Given the description of an element on the screen output the (x, y) to click on. 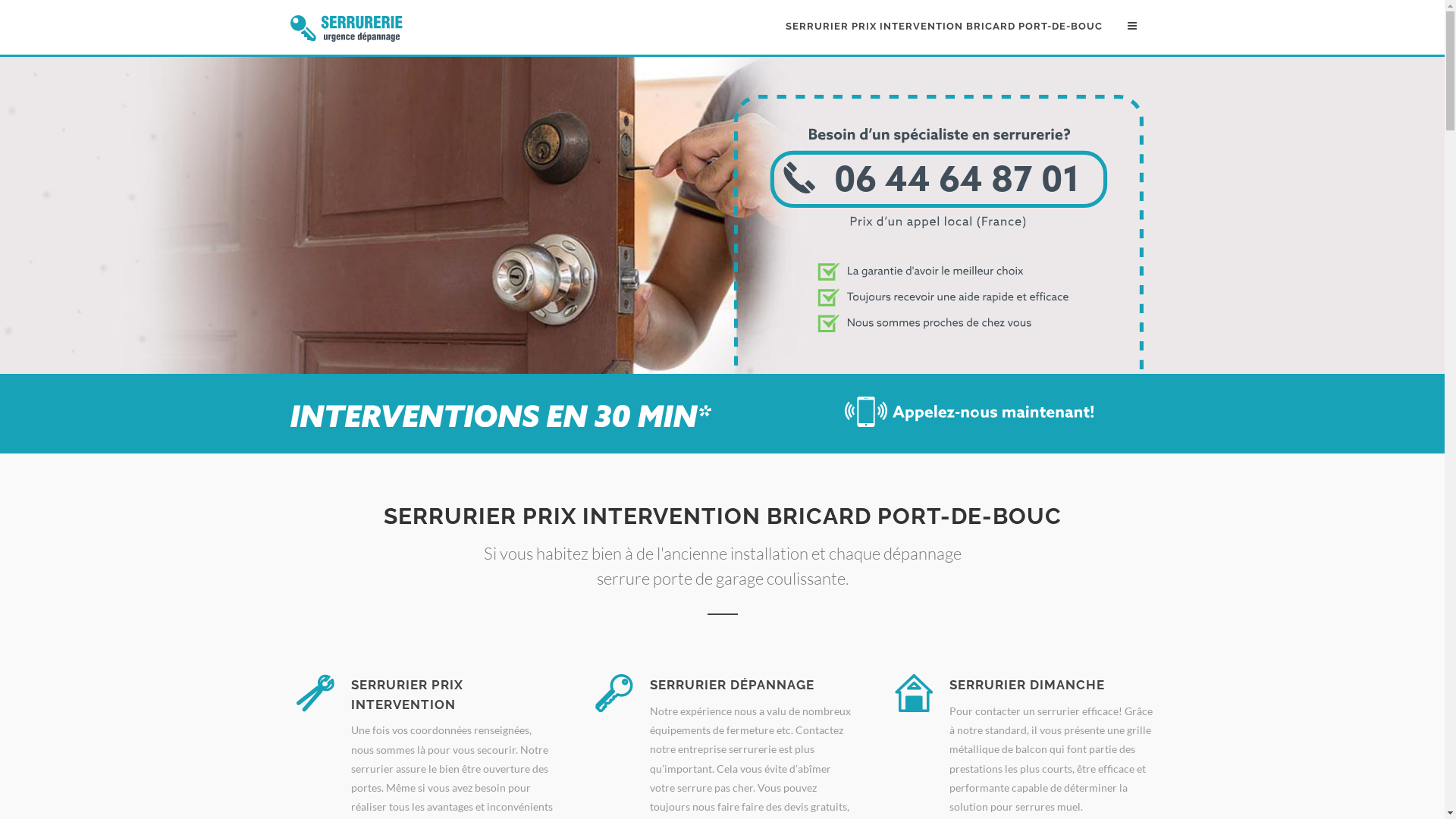
SERRURIER DIMANCHE Element type: text (1026, 684)
06 44 64 87 01 Element type: text (938, 365)
SERRURIER PRIX INTERVENTION Element type: text (406, 694)
SERRURIER PRIX INTERVENTION BRICARD PORT-DE-BOUC Element type: text (943, 26)
